Given the description of an element on the screen output the (x, y) to click on. 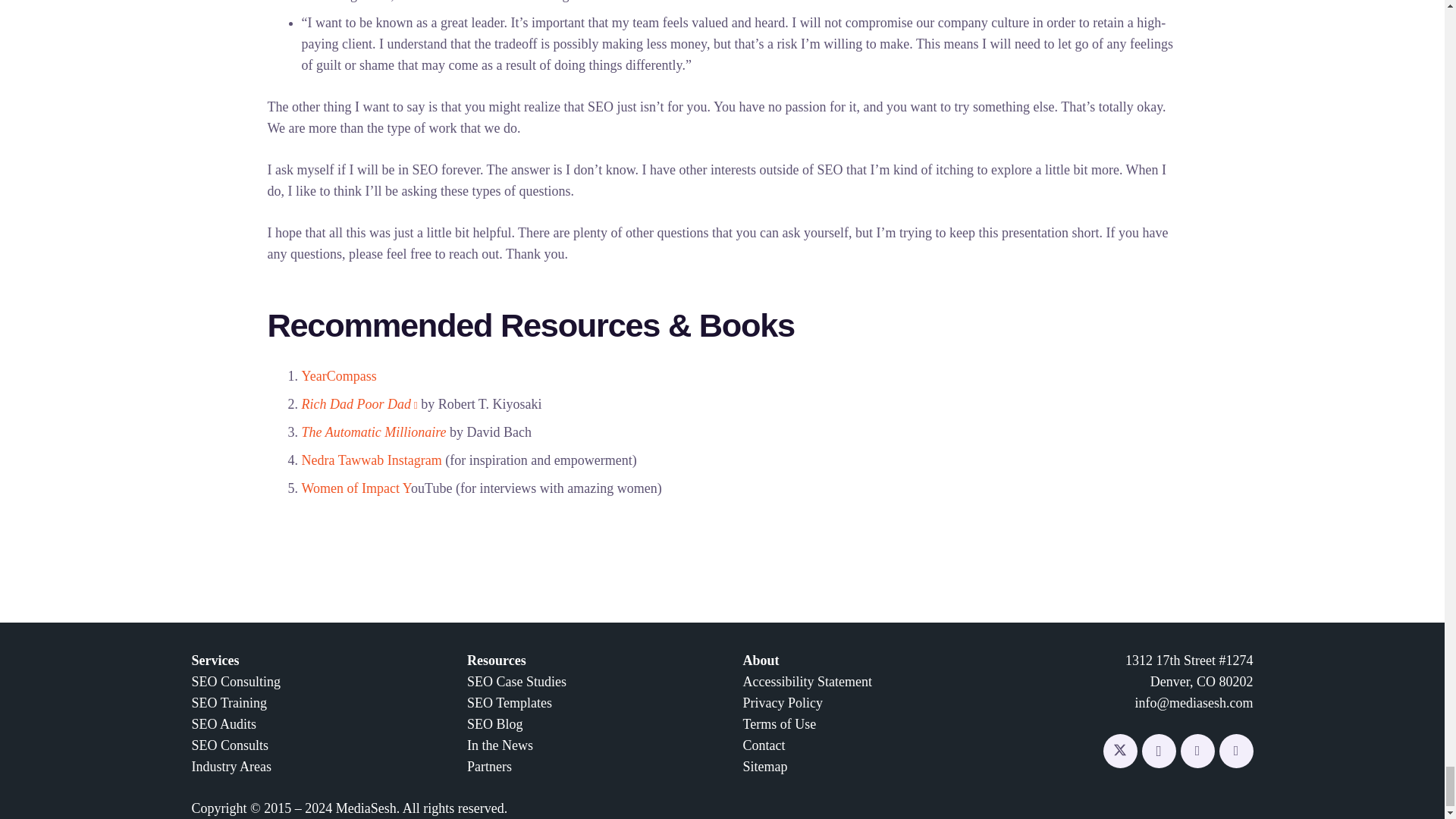
Instagram (1158, 750)
Nedra Tawwab Instagram (371, 459)
SEO Training (228, 702)
SEO Consults (228, 744)
YearCompass (339, 376)
Women of Impact Y (356, 488)
The Automatic Millionaire (373, 432)
Twitter (1119, 750)
YouTube (1236, 750)
SEO Consulting (235, 681)
Industry Areas (230, 766)
SEO Audits (223, 724)
LinkedIn (1196, 750)
Services (214, 660)
Rich Dad Poor Dad (359, 403)
